Given the description of an element on the screen output the (x, y) to click on. 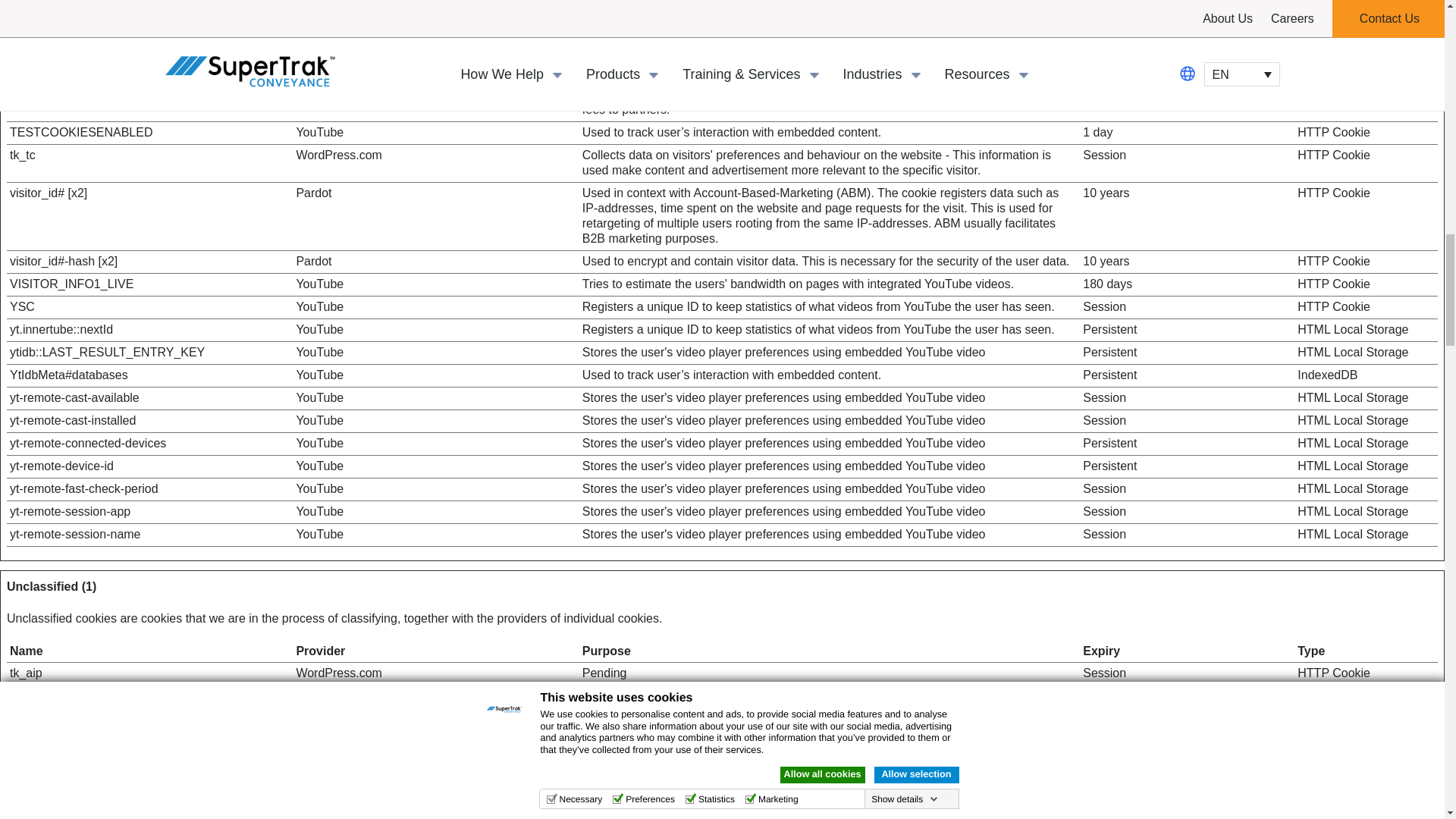
YouTube (319, 420)
YouTube (319, 306)
YouTube (319, 132)
YouTube (319, 56)
Pardot (313, 260)
YouTube (319, 465)
Pardot (313, 192)
YouTube (319, 442)
YouTube (319, 328)
YouTube (319, 397)
YouTube (319, 33)
Piwik Pro (320, 93)
WordPress.com (338, 154)
YouTube (319, 1)
YouTube (319, 351)
